Given the description of an element on the screen output the (x, y) to click on. 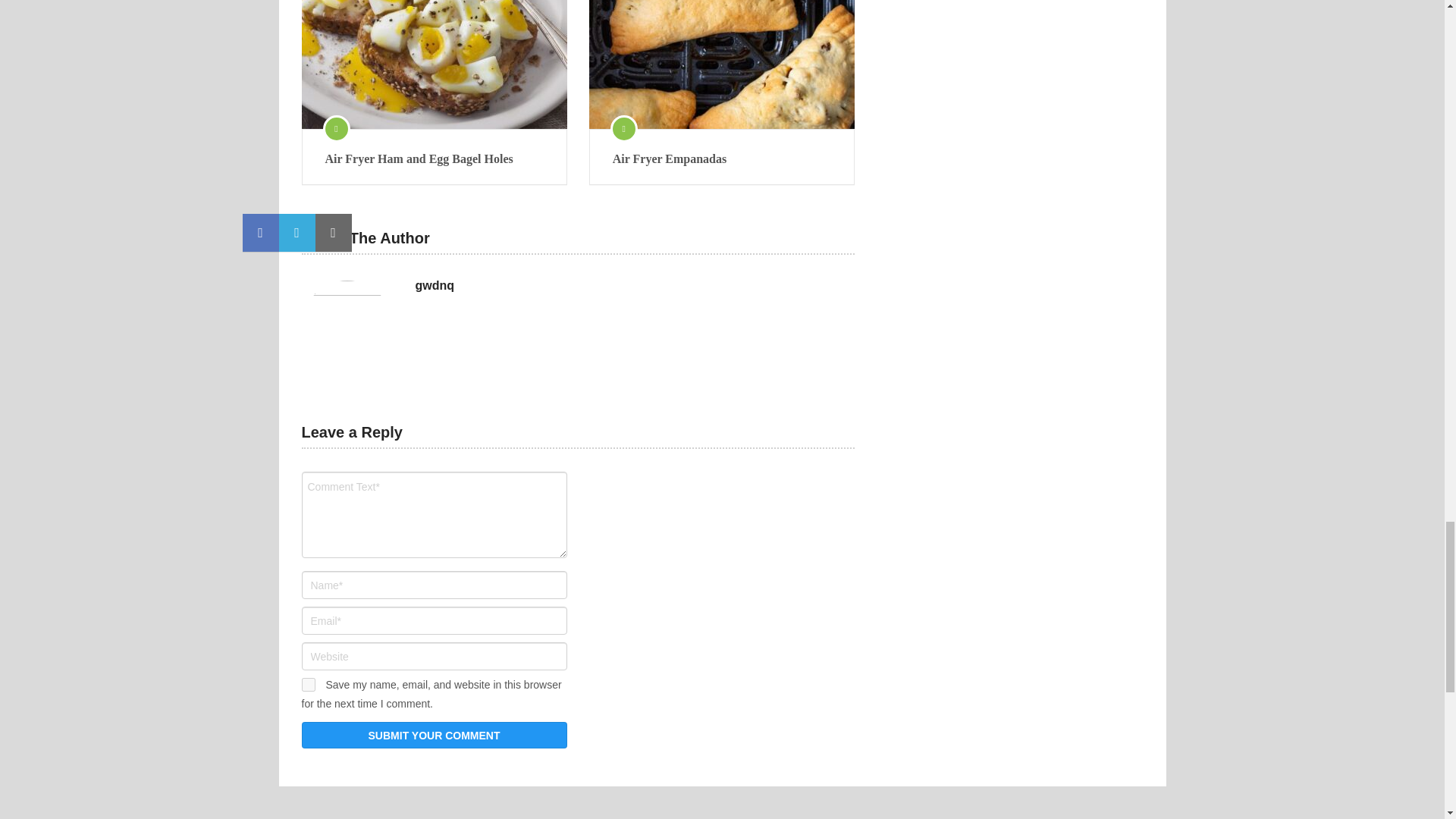
gwdnq (434, 285)
Air Fryer Ham and Egg Bagel Holes (433, 158)
Air Fryer Empanadas (721, 64)
Air Fryer Empanadas (721, 158)
Submit Your Comment (434, 734)
Air Fryer Empanadas (721, 158)
Air Fryer Ham and Egg Bagel Holes (434, 64)
yes (308, 684)
Submit Your Comment (434, 734)
Air Fryer Ham and Egg Bagel Holes (433, 158)
